Given the description of an element on the screen output the (x, y) to click on. 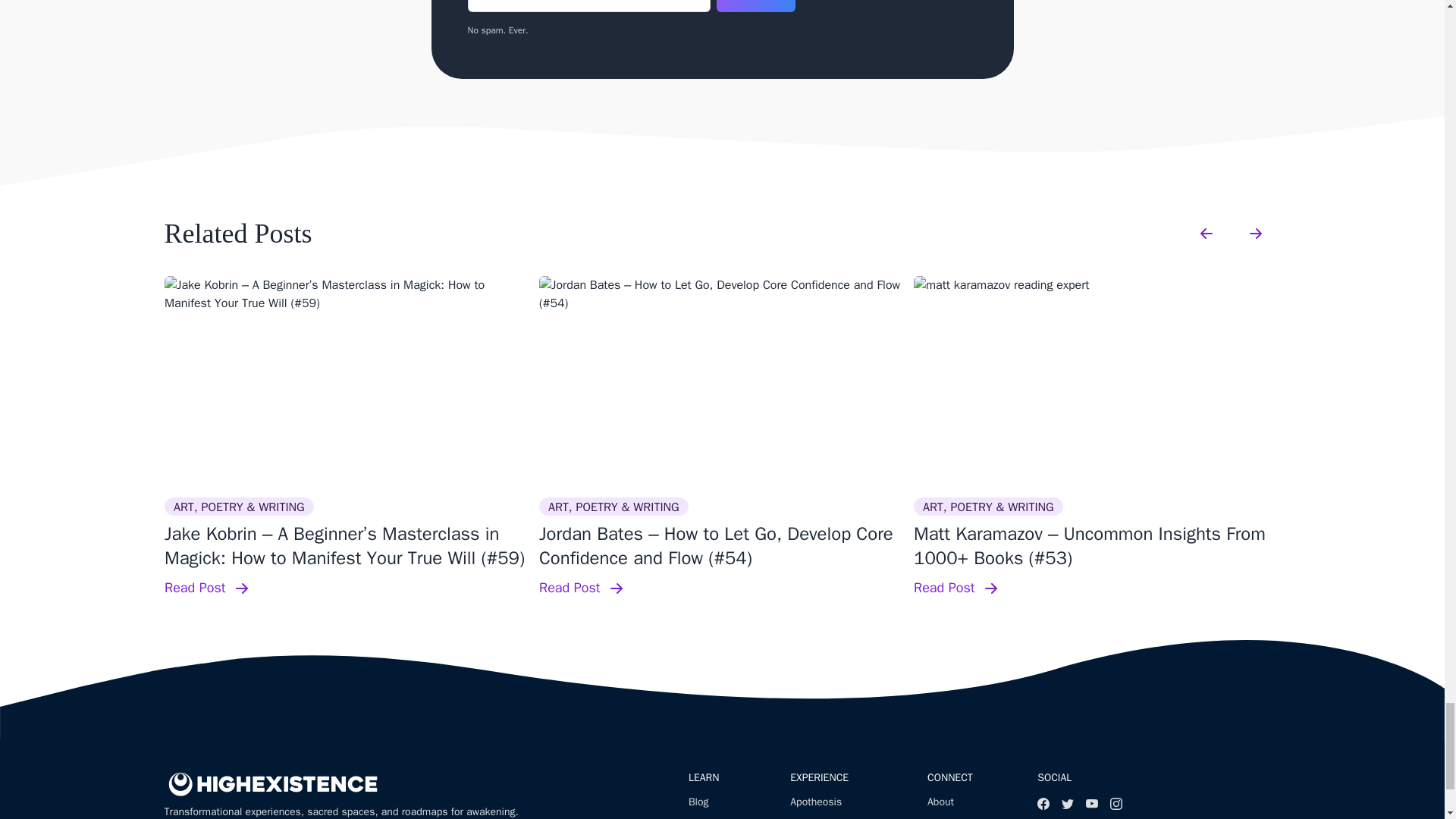
Twitter (1067, 803)
Youtube (1091, 803)
Facebook (1042, 803)
Read Post (347, 588)
Instagram (1115, 803)
SUBSCRIBE (755, 6)
